Given the description of an element on the screen output the (x, y) to click on. 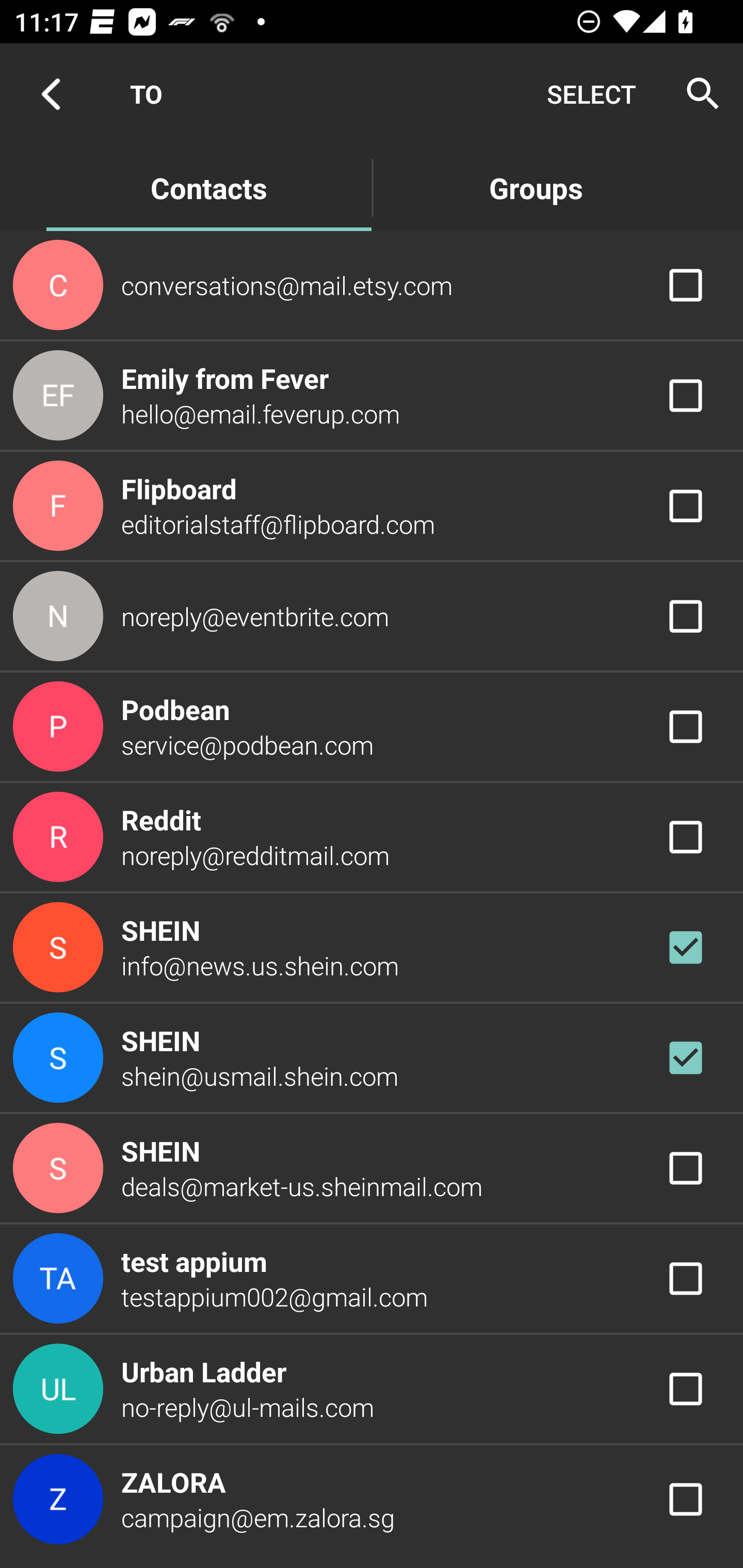
Navigate up (50, 93)
SELECT (590, 93)
Search (696, 93)
Contacts (208, 187)
Groups (535, 187)
conversations@mail.etsy.com (371, 284)
Emily from Fever hello@email.feverup.com (371, 395)
Flipboard editorialstaff@flipboard.com (371, 505)
noreply@eventbrite.com (371, 616)
Podbean service@podbean.com (371, 726)
Reddit noreply@redditmail.com (371, 836)
SHEIN info@news.us.shein.com (371, 947)
SHEIN shein@usmail.shein.com (371, 1057)
SHEIN deals@market-us.sheinmail.com (371, 1168)
test appium testappium002@gmail.com (371, 1278)
Urban Ladder no-reply@ul-mails.com (371, 1388)
ZALORA campaign@em.zalora.sg (371, 1499)
